Given the description of an element on the screen output the (x, y) to click on. 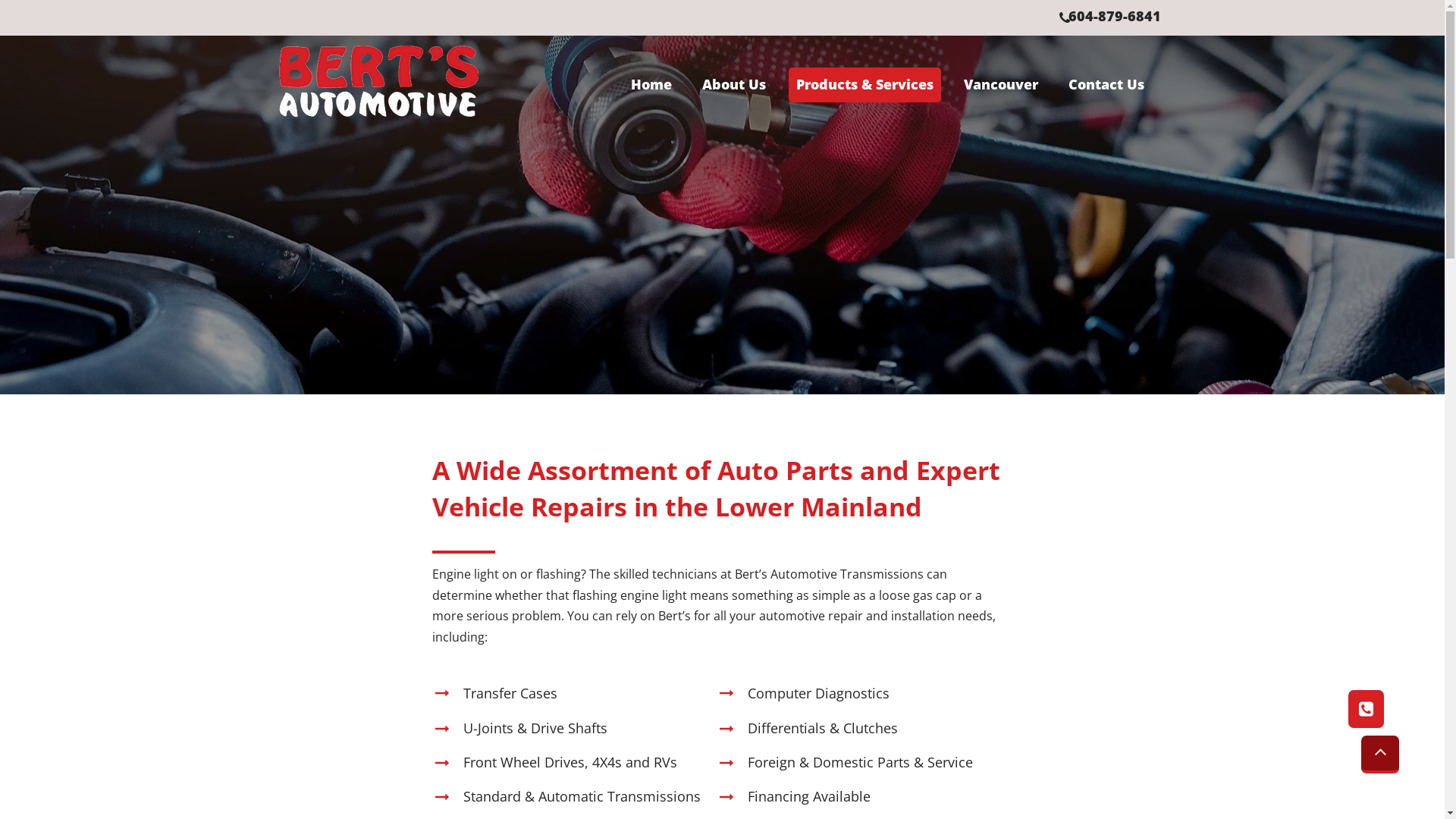
Contact Us Element type: text (1105, 84)
604-879-6841 Element type: text (1113, 18)
Home Element type: text (651, 84)
Vancouver Element type: text (1000, 84)
About Us Element type: text (733, 84)
Products & Services Element type: text (864, 84)
